Given the description of an element on the screen output the (x, y) to click on. 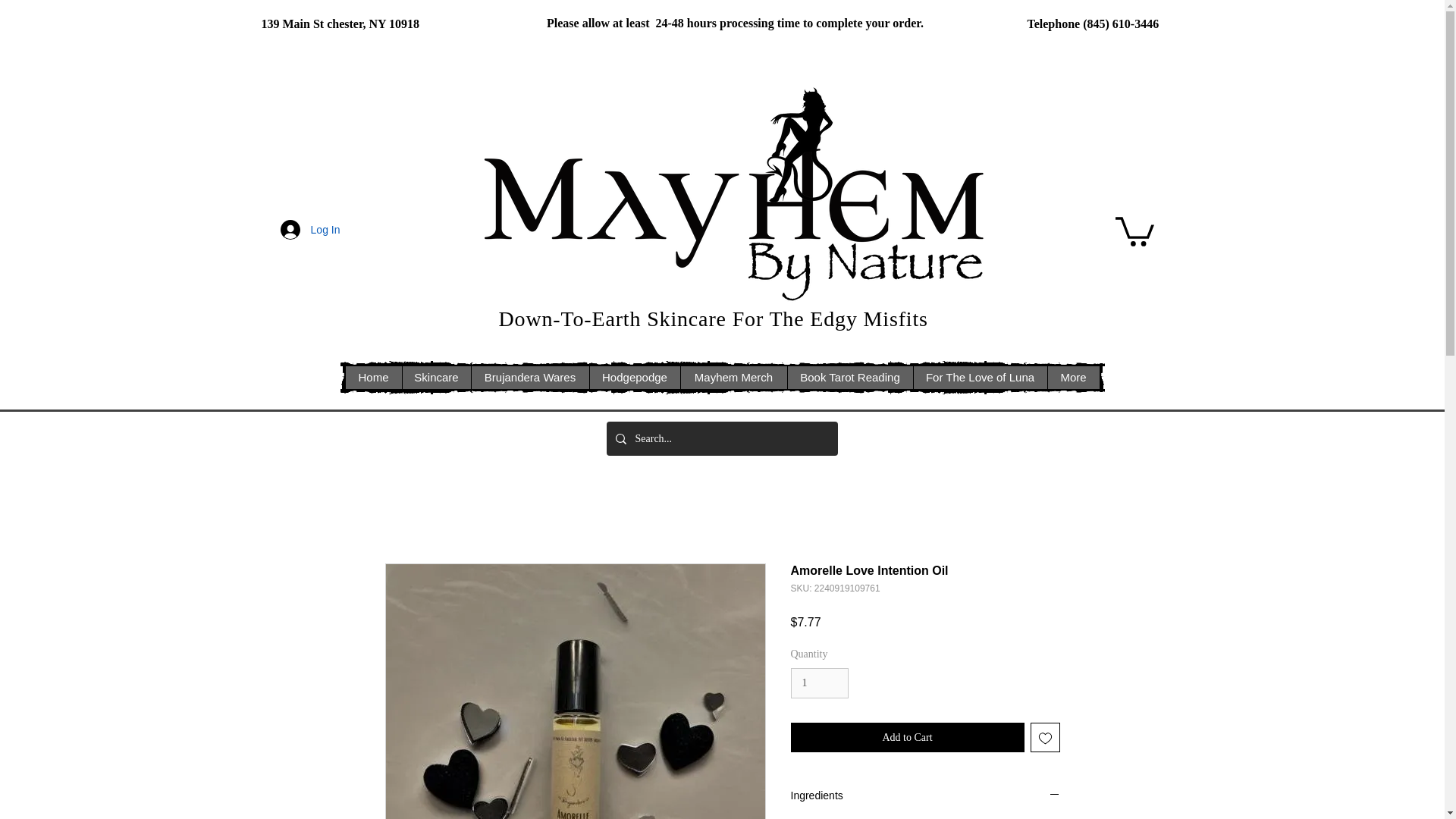
Book Tarot Reading (849, 377)
1 (818, 683)
Log In (309, 229)
Home (373, 377)
Mayhem Merch (732, 377)
For The Love of Luna (979, 377)
Brujandera Wares (529, 377)
Hodgepodge (633, 377)
Skincare (435, 377)
